Given the description of an element on the screen output the (x, y) to click on. 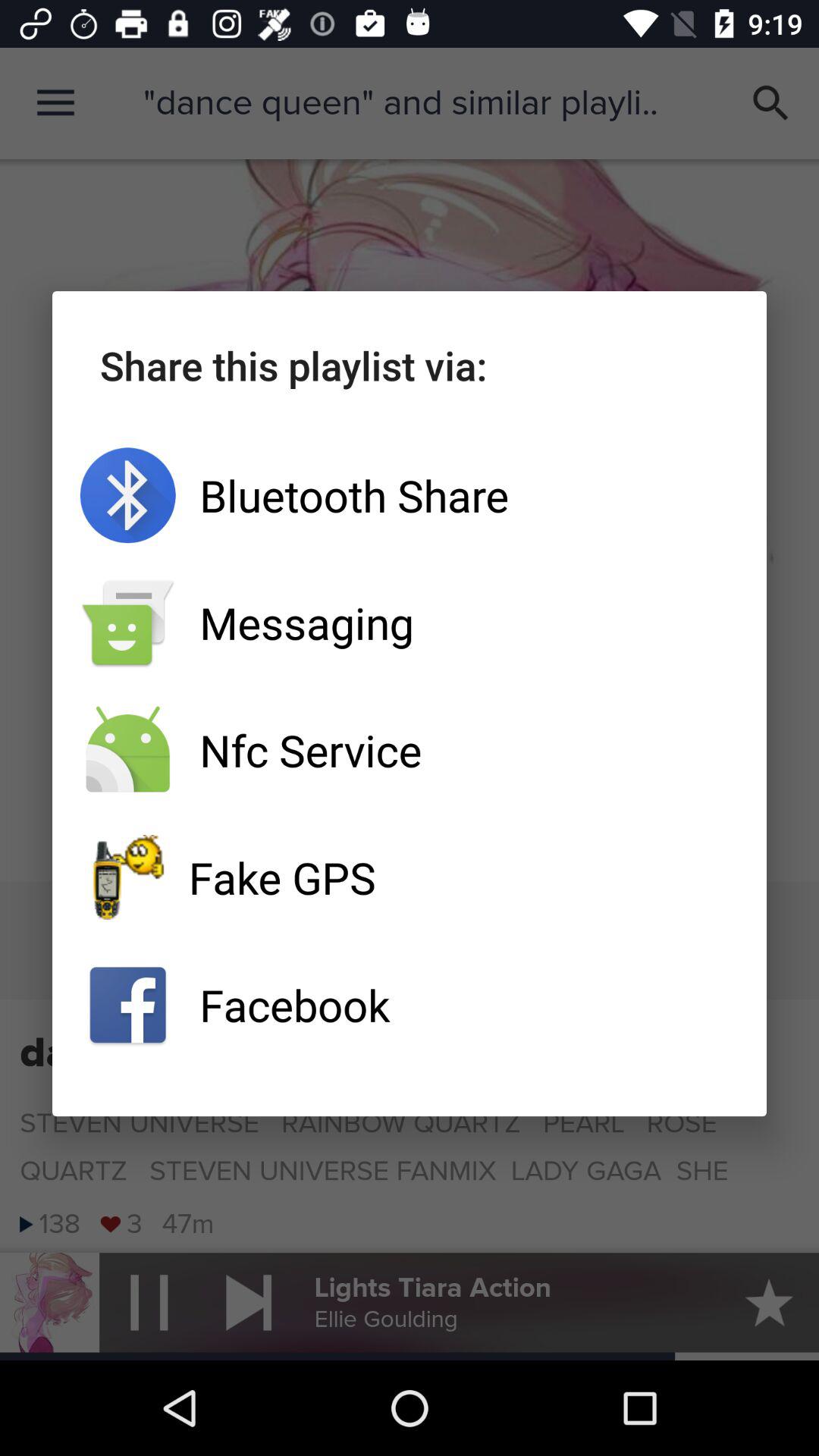
choose app above fake gps app (409, 749)
